Given the description of an element on the screen output the (x, y) to click on. 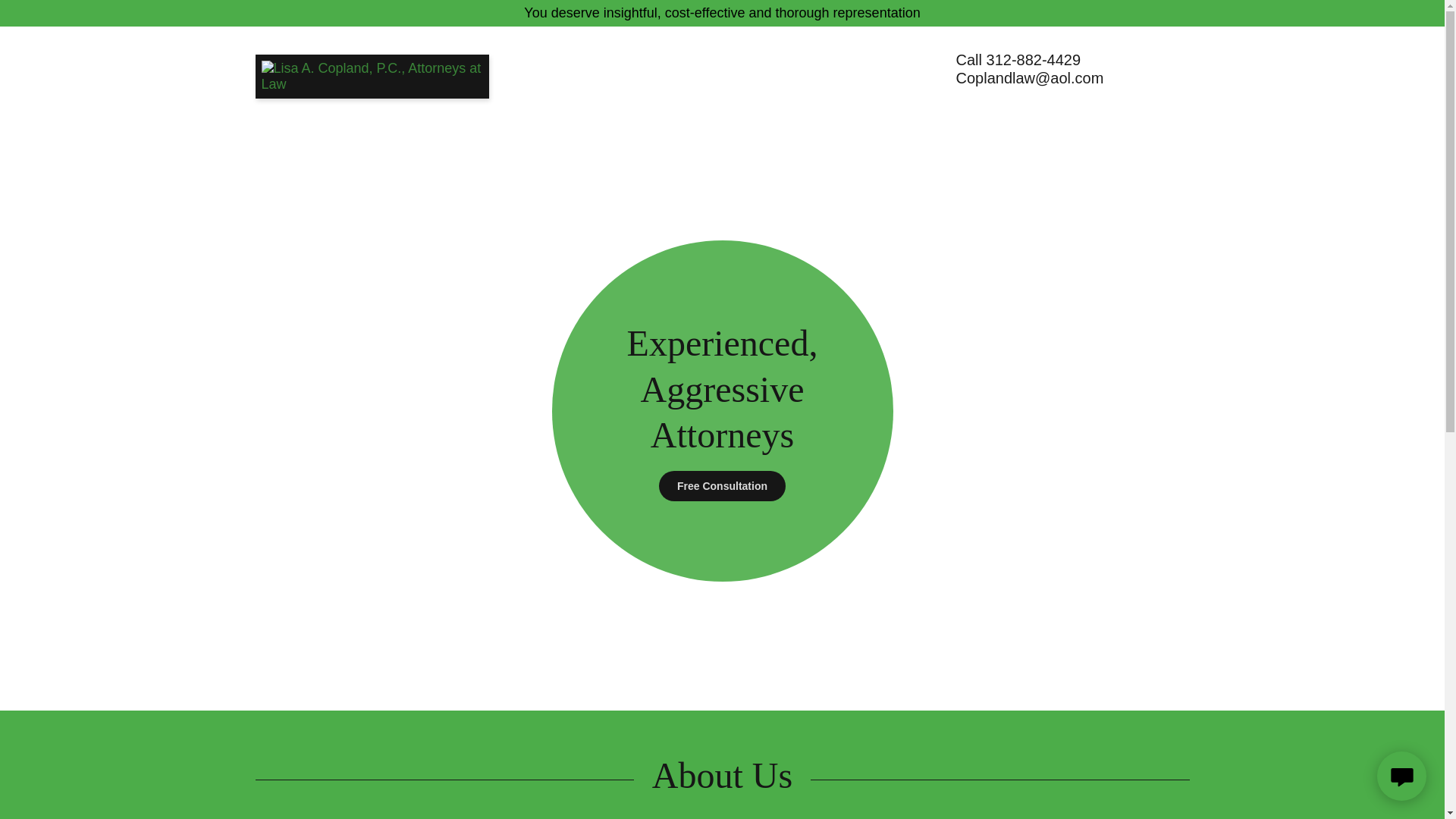
Free Consultation (722, 485)
Lisa A. Copland, P.C., Attorneys at Law (370, 60)
312-882-4429 (1034, 59)
